Given the description of an element on the screen output the (x, y) to click on. 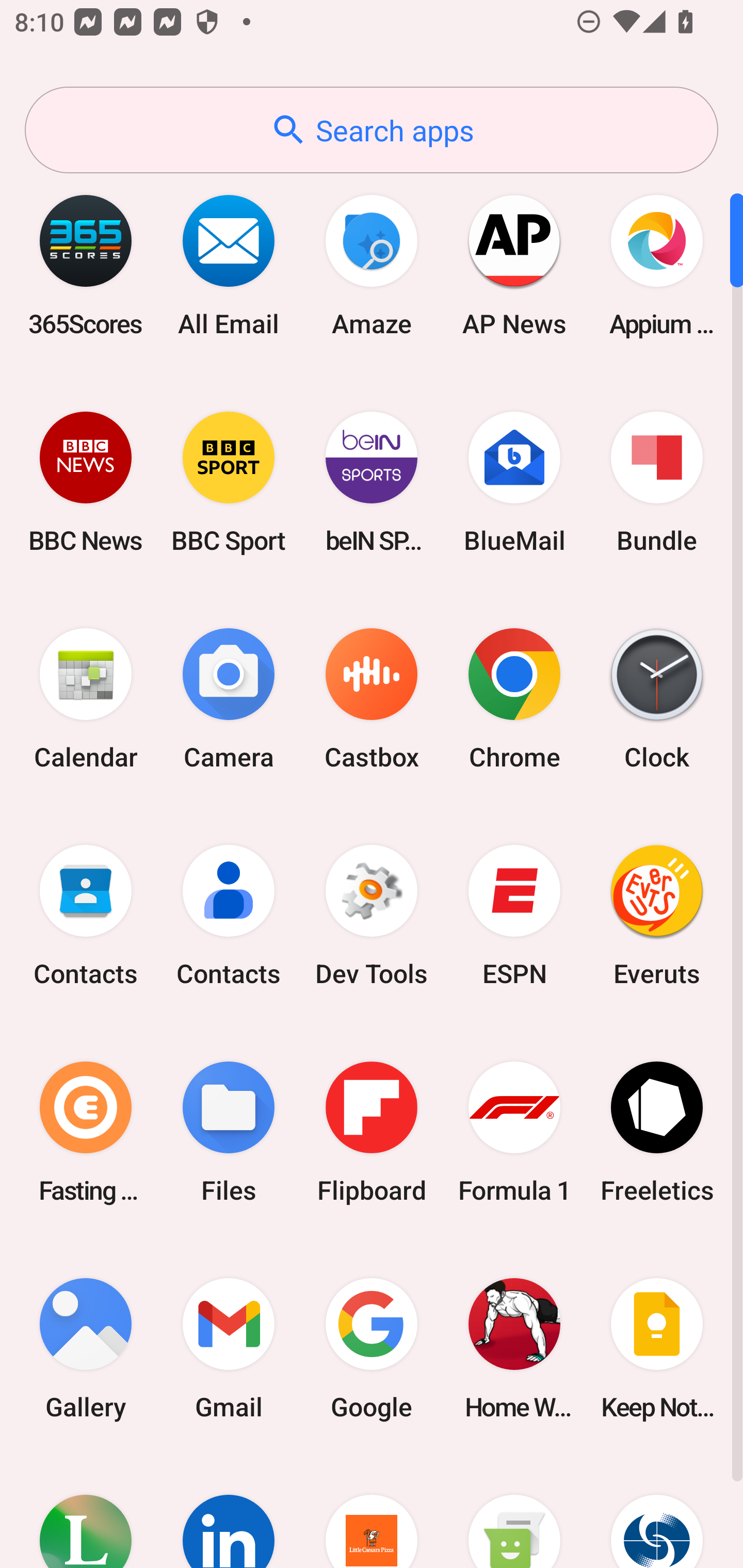
  Search apps (371, 130)
365Scores (85, 264)
All Email (228, 264)
Amaze (371, 264)
AP News (514, 264)
Appium Settings (656, 264)
BBC News (85, 482)
BBC Sport (228, 482)
beIN SPORTS (371, 482)
BlueMail (514, 482)
Bundle (656, 482)
Calendar (85, 699)
Camera (228, 699)
Castbox (371, 699)
Chrome (514, 699)
Clock (656, 699)
Contacts (85, 915)
Contacts (228, 915)
Dev Tools (371, 915)
ESPN (514, 915)
Everuts (656, 915)
Fasting Coach (85, 1131)
Files (228, 1131)
Flipboard (371, 1131)
Formula 1 (514, 1131)
Freeletics (656, 1131)
Gallery (85, 1348)
Gmail (228, 1348)
Google (371, 1348)
Home Workout (514, 1348)
Keep Notes (656, 1348)
